Given the description of an element on the screen output the (x, y) to click on. 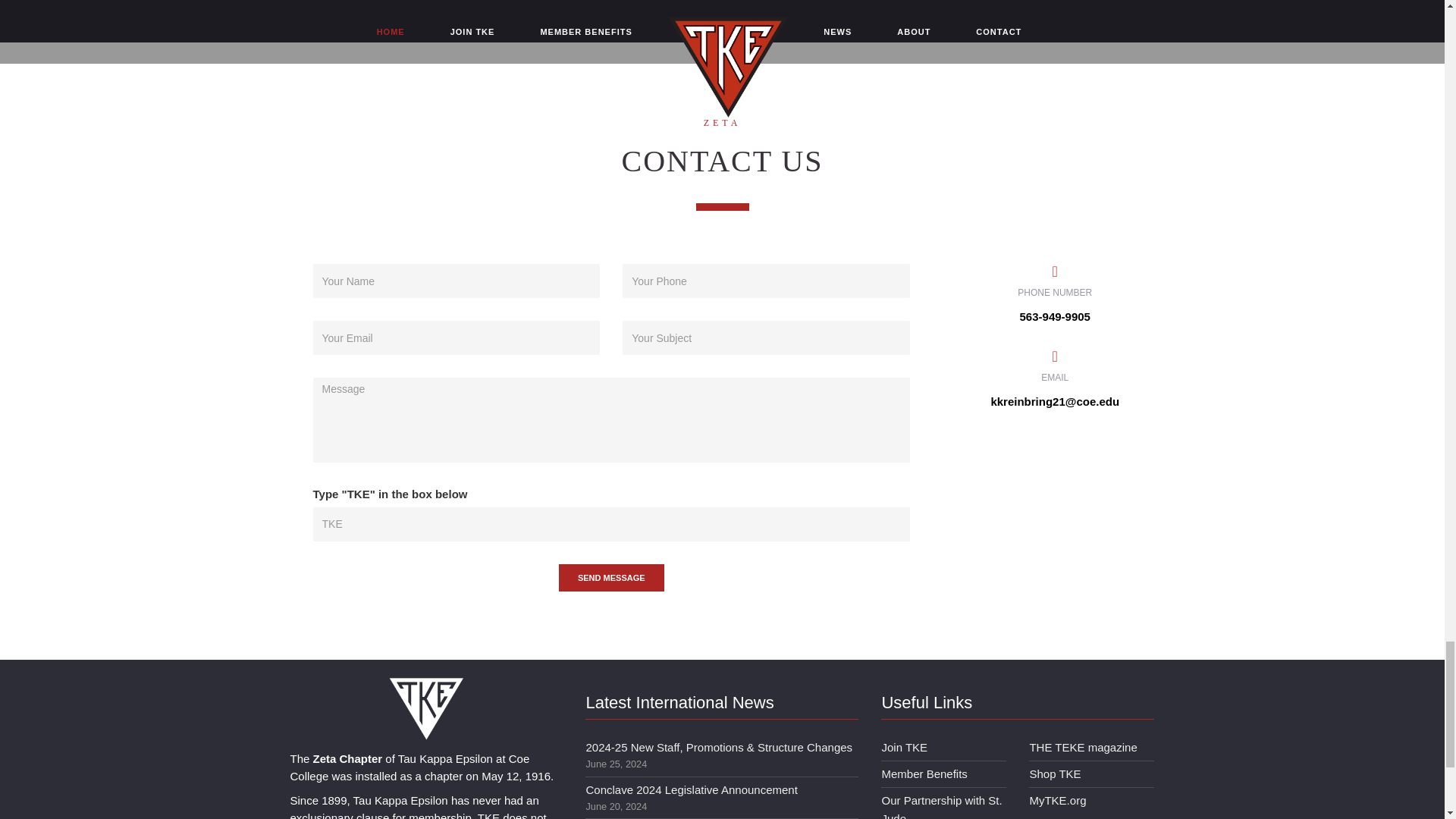
Send Message (611, 578)
Send Message (611, 578)
